Given the description of an element on the screen output the (x, y) to click on. 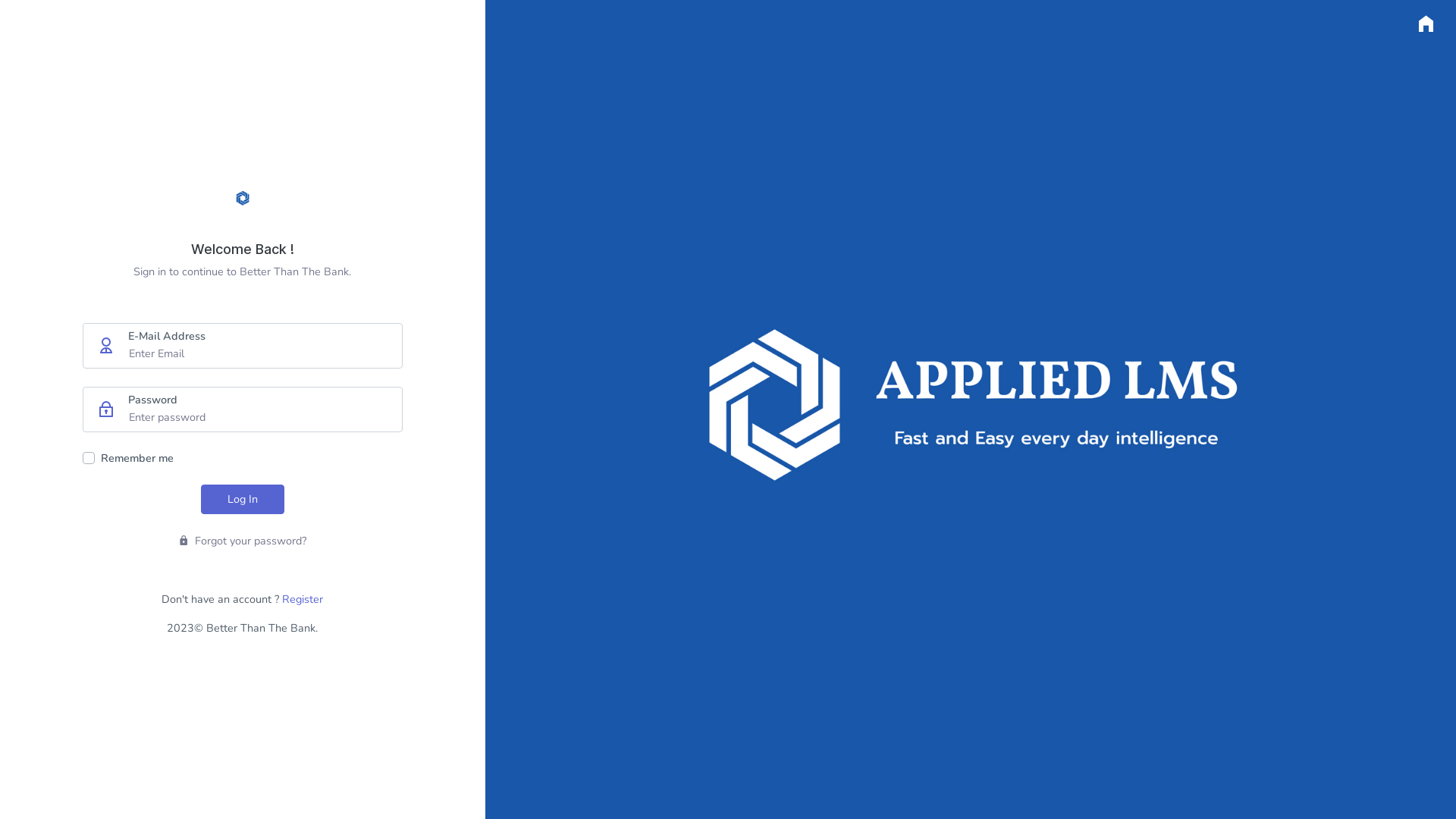
Forgot your password? Element type: text (242, 540)
Log In Element type: text (242, 499)
Register Element type: text (302, 598)
